Given the description of an element on the screen output the (x, y) to click on. 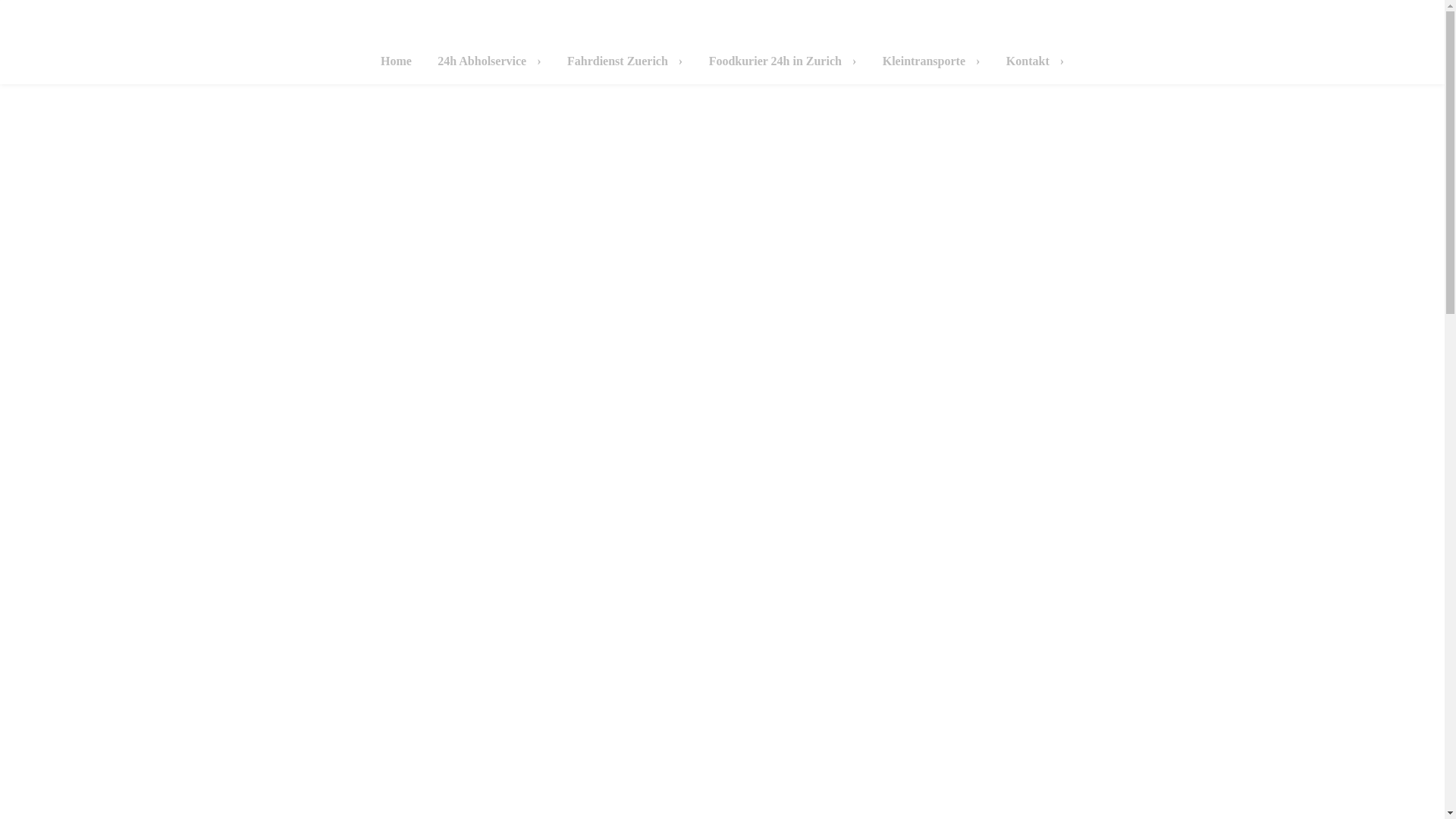
24h Abholservice Element type: text (489, 61)
Home Element type: text (396, 61)
Kontakt Element type: text (1034, 61)
Kleintransporte Element type: text (931, 61)
Fahrdienst Zuerich Element type: text (624, 61)
Foodkurier 24h in Zurich Element type: text (782, 61)
